Given the description of an element on the screen output the (x, y) to click on. 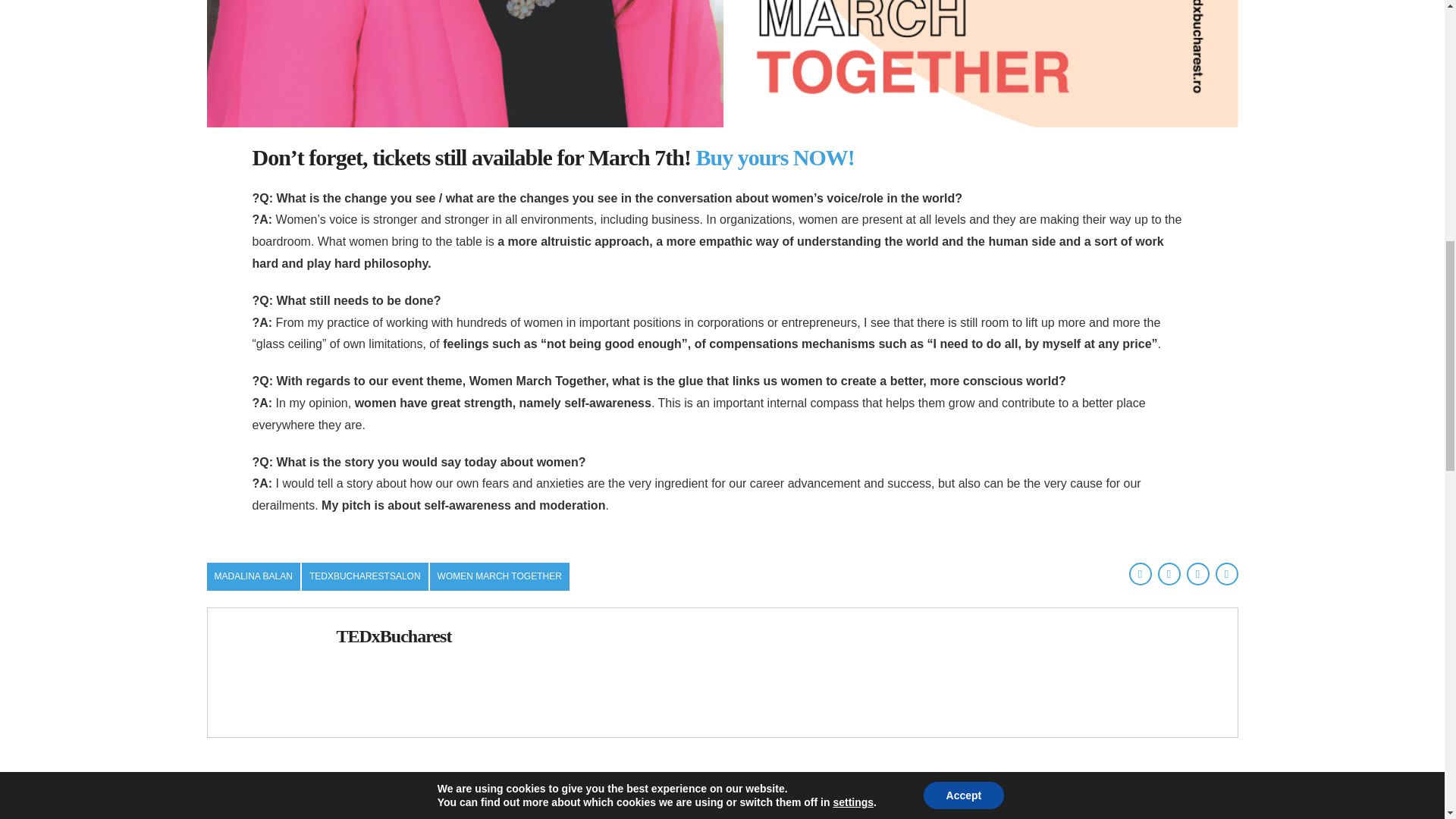
TEDXBUCHARESTSALON (364, 576)
Buy yours NOW! (774, 156)
MADALINA BALAN (252, 576)
WOMEN MARCH TOGETHER (499, 576)
